Given the description of an element on the screen output the (x, y) to click on. 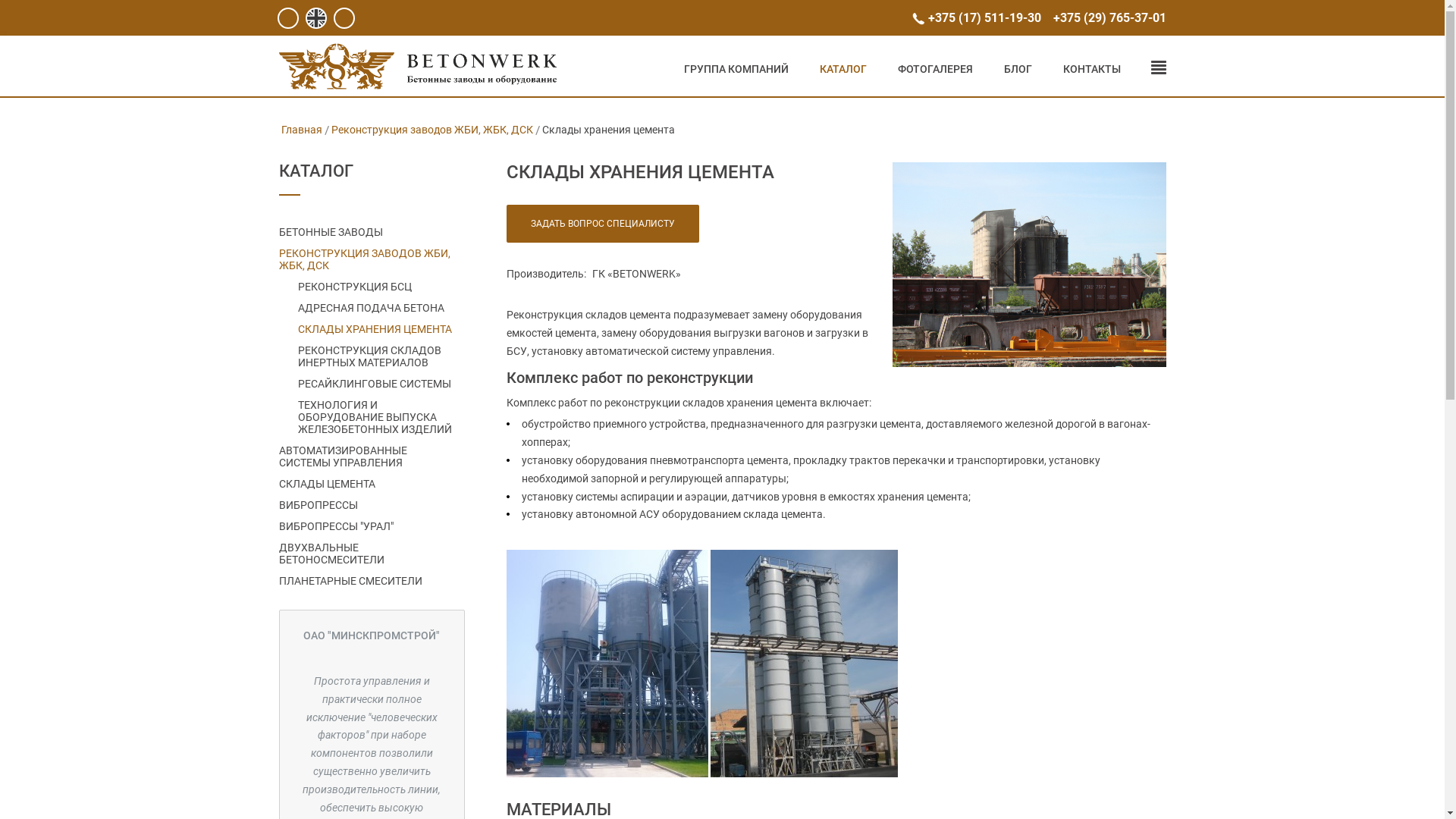
+375 (17) 511-19-30 Element type: text (984, 17)
+375 (29) 765-37-01 Element type: text (1108, 17)
